Given the description of an element on the screen output the (x, y) to click on. 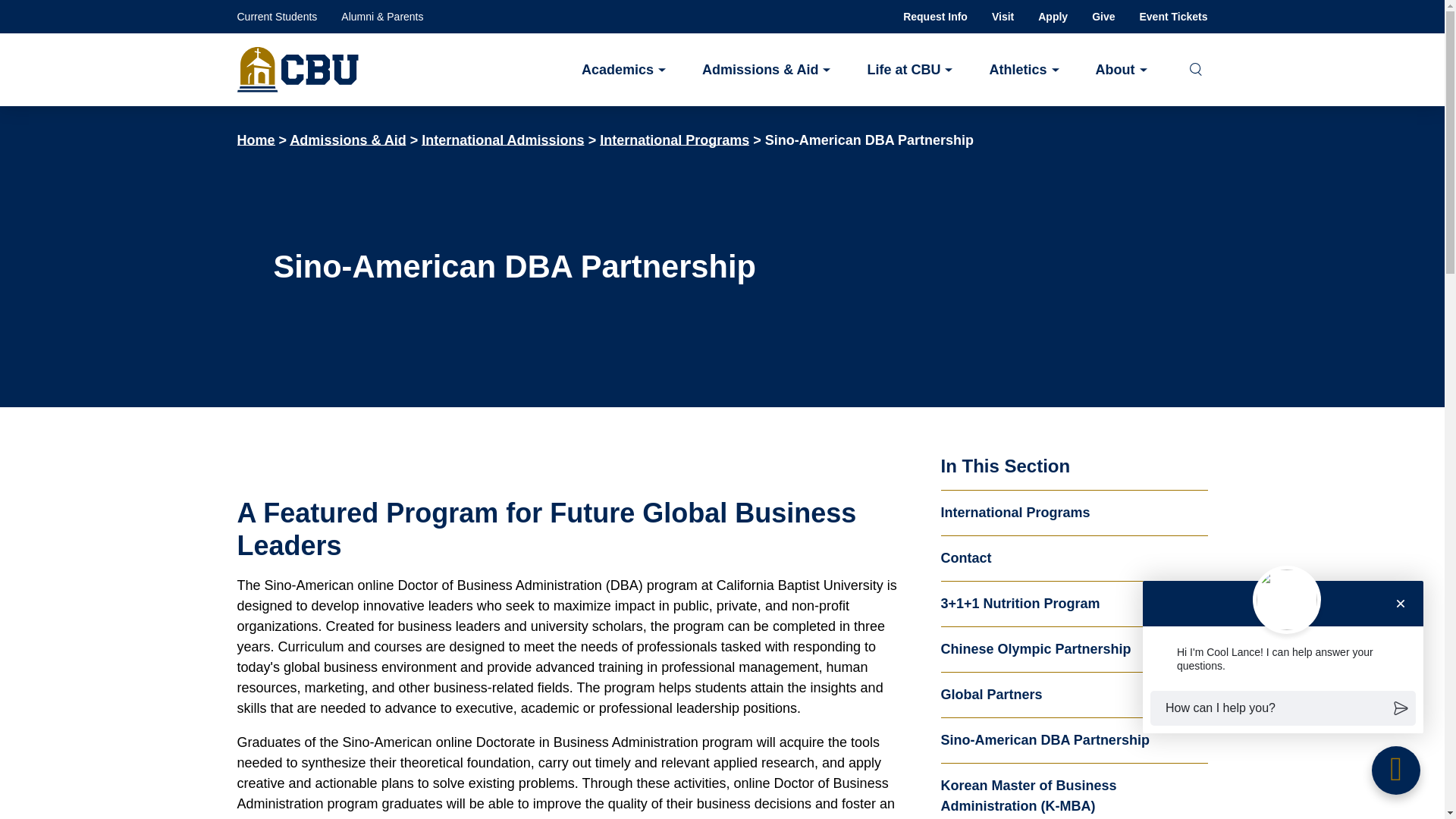
Academics (622, 68)
Skip to main content (721, 22)
Life at CBU (909, 68)
CBU (296, 69)
